Given the description of an element on the screen output the (x, y) to click on. 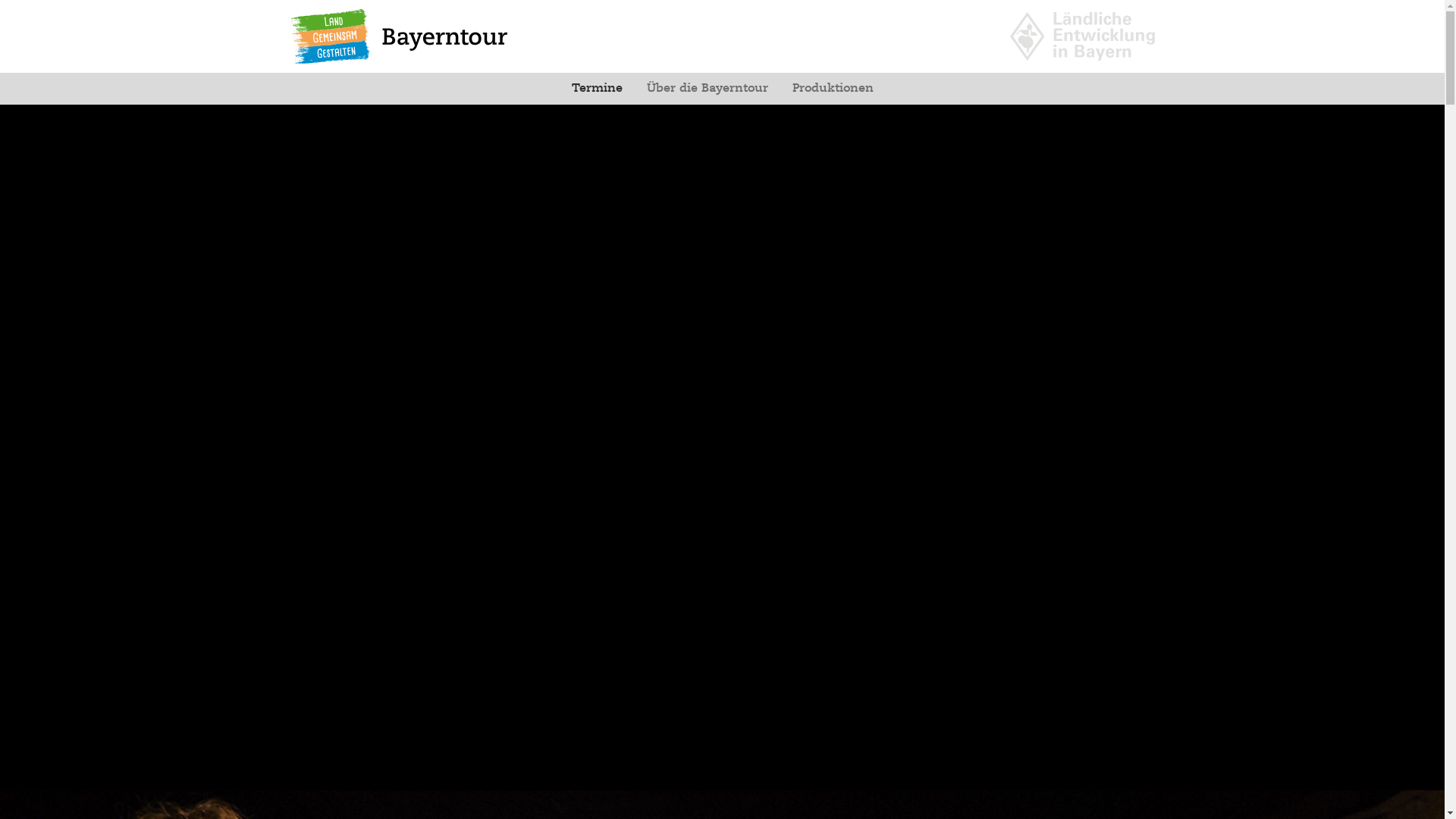
Termine Element type: text (596, 88)
Produktionen Element type: text (831, 88)
